Given the description of an element on the screen output the (x, y) to click on. 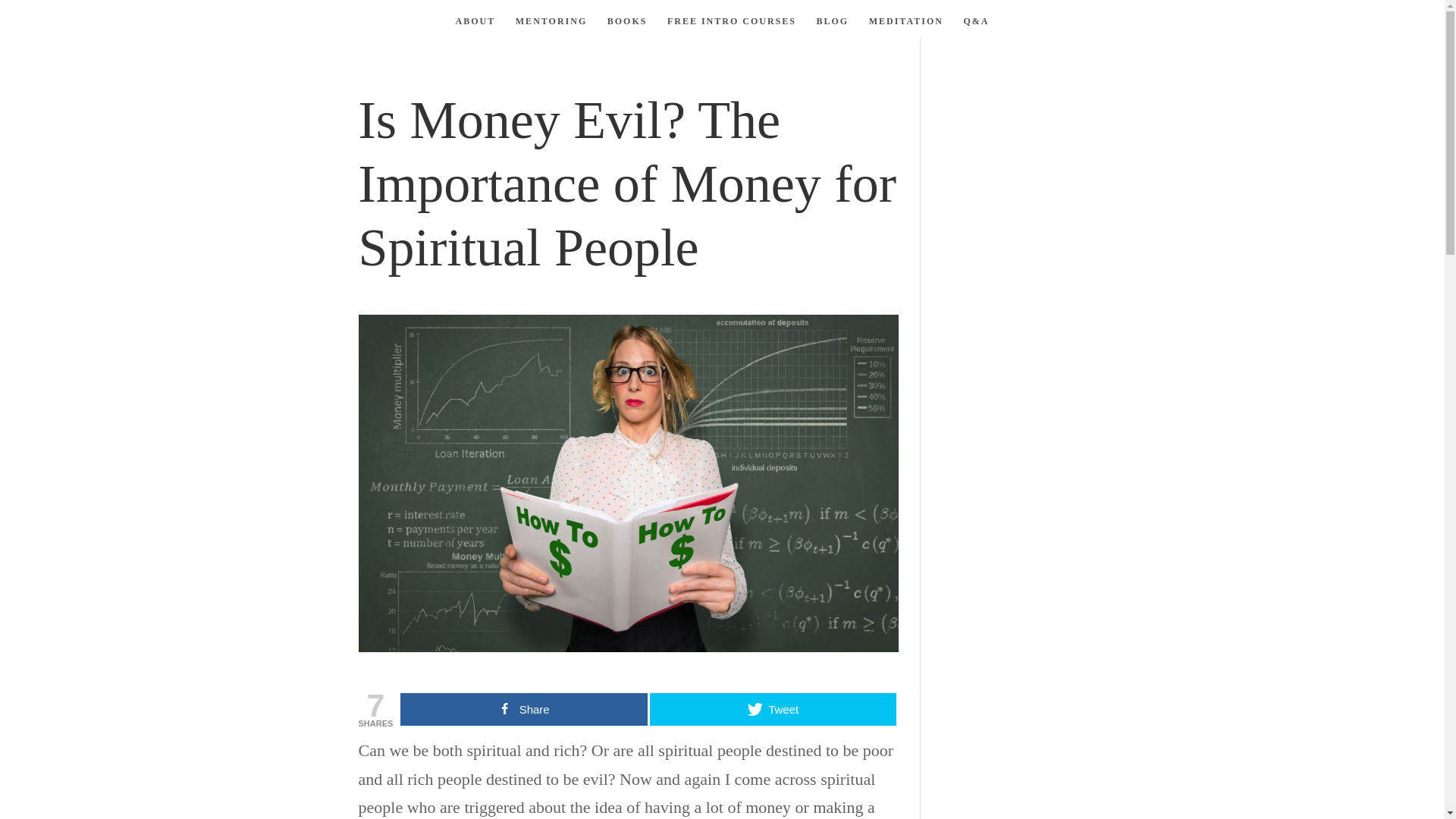
BLOG (831, 26)
FREE INTRO COURSES (731, 26)
Tweet (772, 708)
MEDITATION (906, 26)
BOOKS (627, 26)
Share (523, 708)
ABOUT (475, 26)
MENTORING (550, 26)
